Given the description of an element on the screen output the (x, y) to click on. 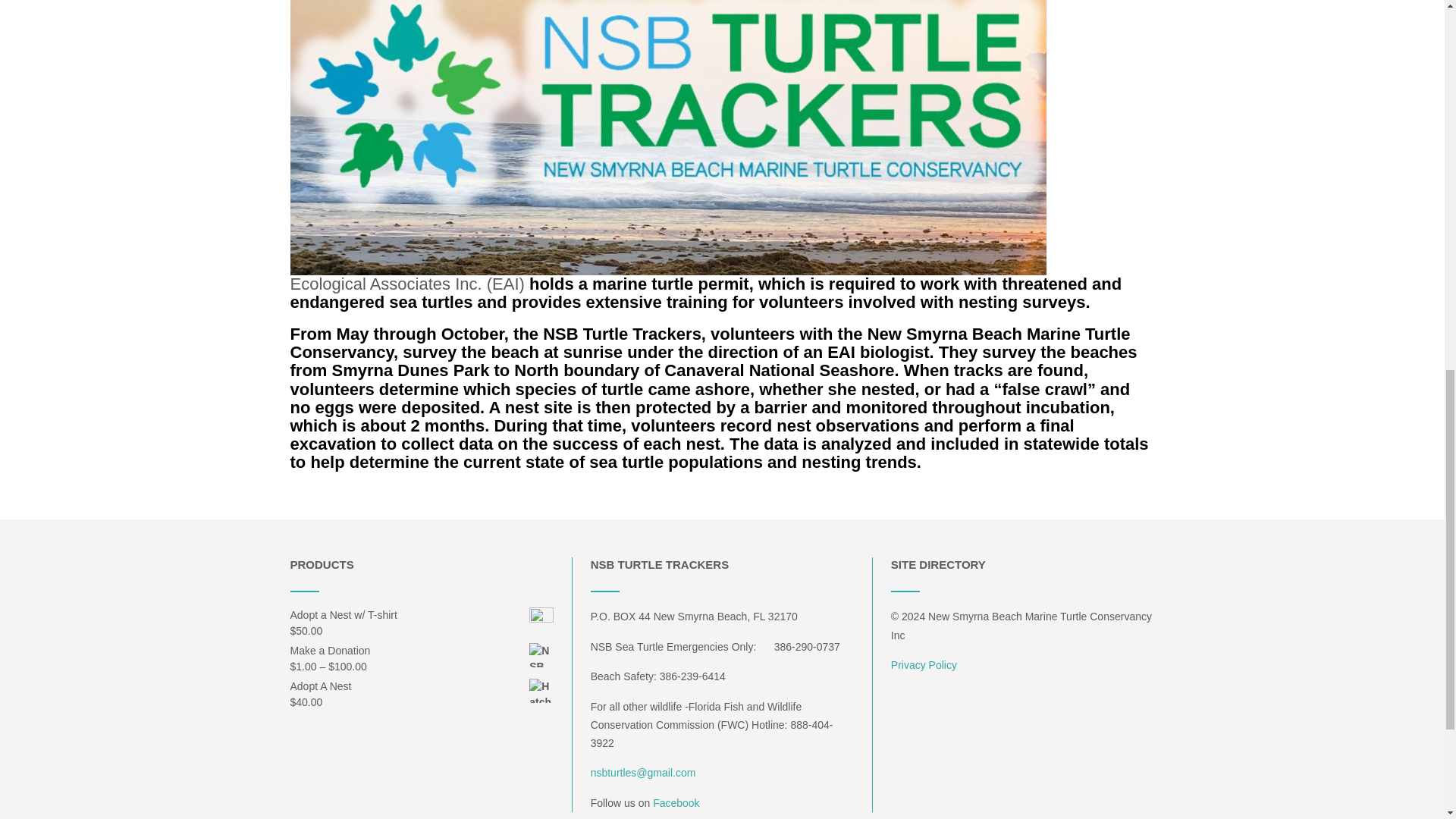
Adopt A Nest (421, 686)
Facebook (675, 802)
Make a Donation (421, 650)
Privacy Policy (923, 664)
